Given the description of an element on the screen output the (x, y) to click on. 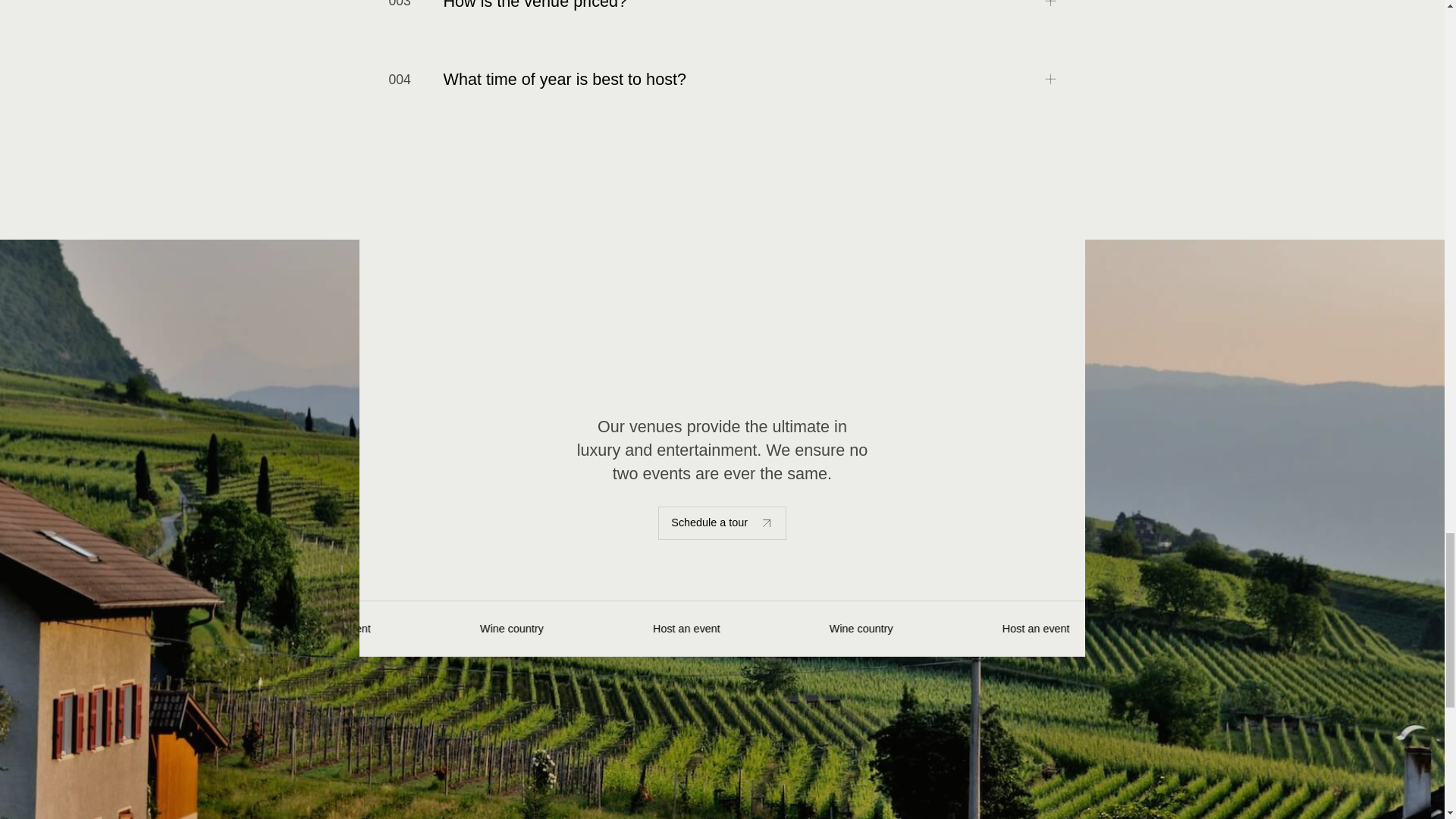
Schedule a tour (722, 522)
